Given the description of an element on the screen output the (x, y) to click on. 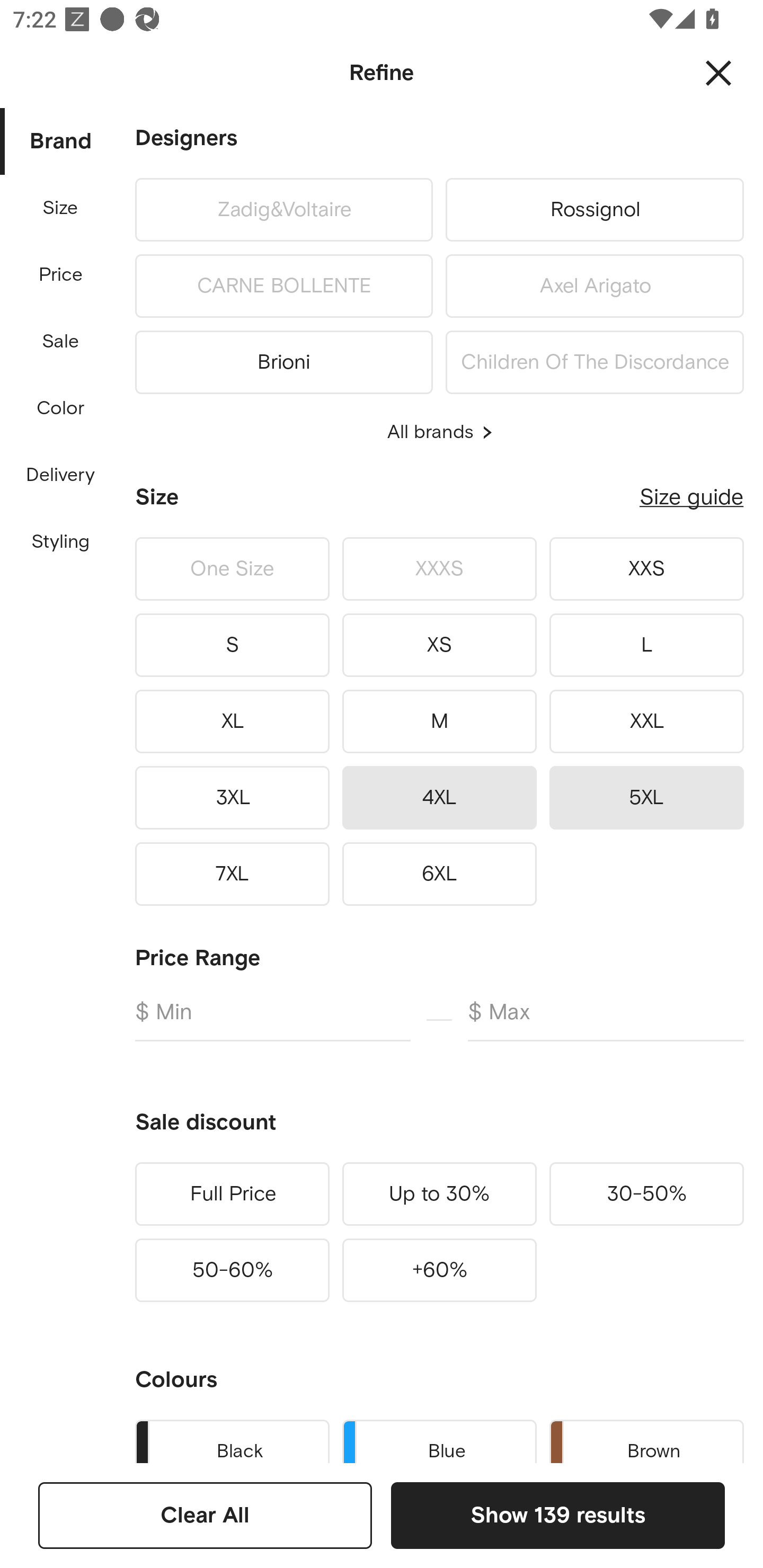
Brand (60, 141)
Size (60, 208)
Zadig&Voltaire (283, 208)
Rossignol (594, 208)
Price (60, 274)
CARNE BOLLENTE (283, 285)
Axel Arigato (594, 285)
Sale (60, 342)
Brioni (283, 358)
Children Of The Discordance (594, 358)
Color (60, 408)
All brands (439, 431)
Delivery (60, 475)
Size guide (691, 496)
Styling (60, 542)
One Size (232, 568)
XXXS (439, 568)
XXS (646, 568)
S (232, 644)
XS (439, 644)
L (646, 644)
XL (232, 720)
M (439, 720)
XXL (646, 720)
3XL (232, 796)
4XL (439, 796)
5XL (646, 796)
7XL (232, 873)
6XL (439, 873)
$ Min (272, 1019)
$ Max (605, 1019)
Full Price (232, 1193)
Up to 30% (439, 1193)
30-50% (646, 1193)
50-60% (232, 1269)
+60% (439, 1269)
Black (232, 1437)
Blue (439, 1437)
Brown (646, 1437)
Clear All (205, 1515)
Show 139 results (557, 1515)
